Given the description of an element on the screen output the (x, y) to click on. 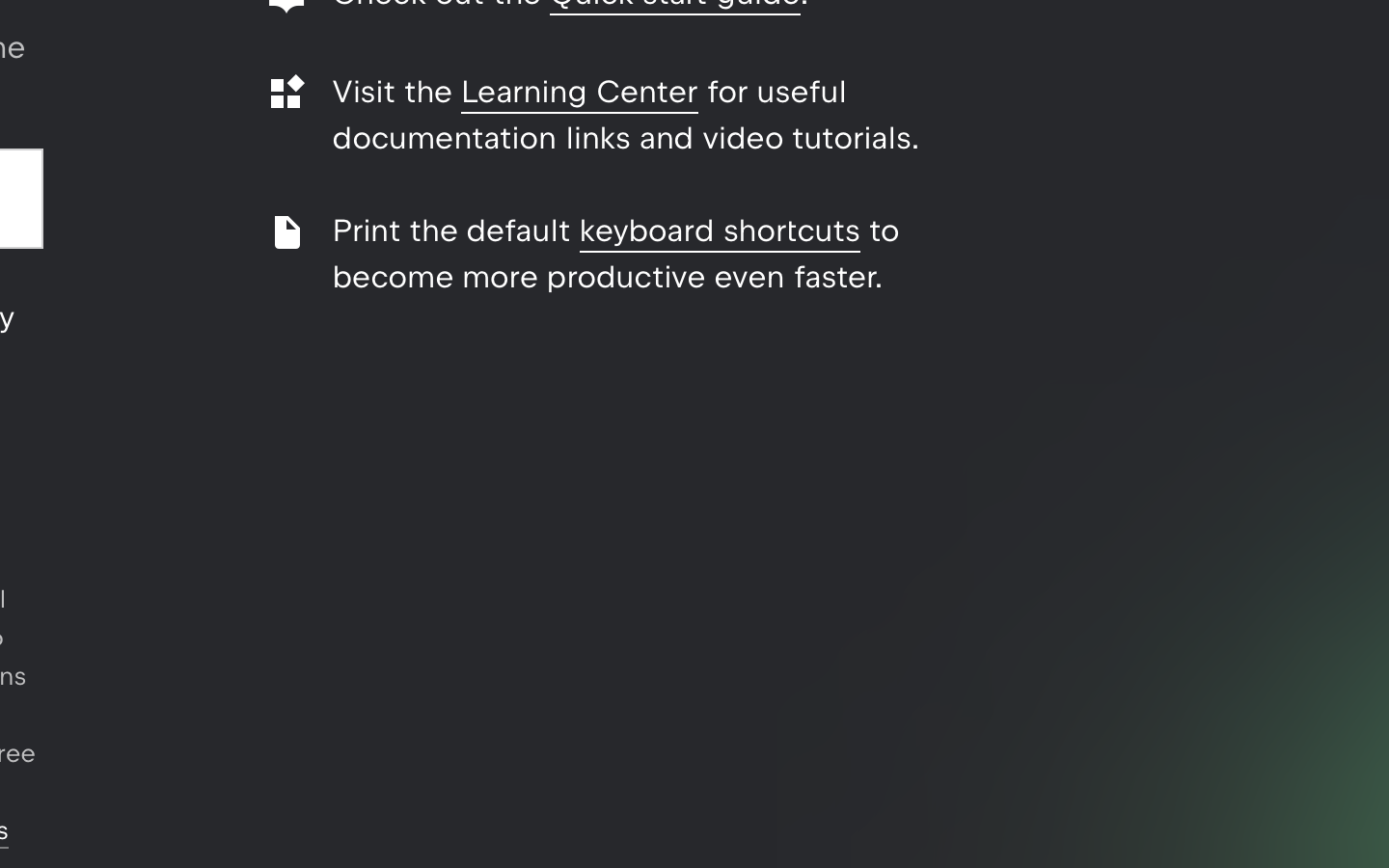
Visit the Element type: AXStaticText (397, 91)
